Given the description of an element on the screen output the (x, y) to click on. 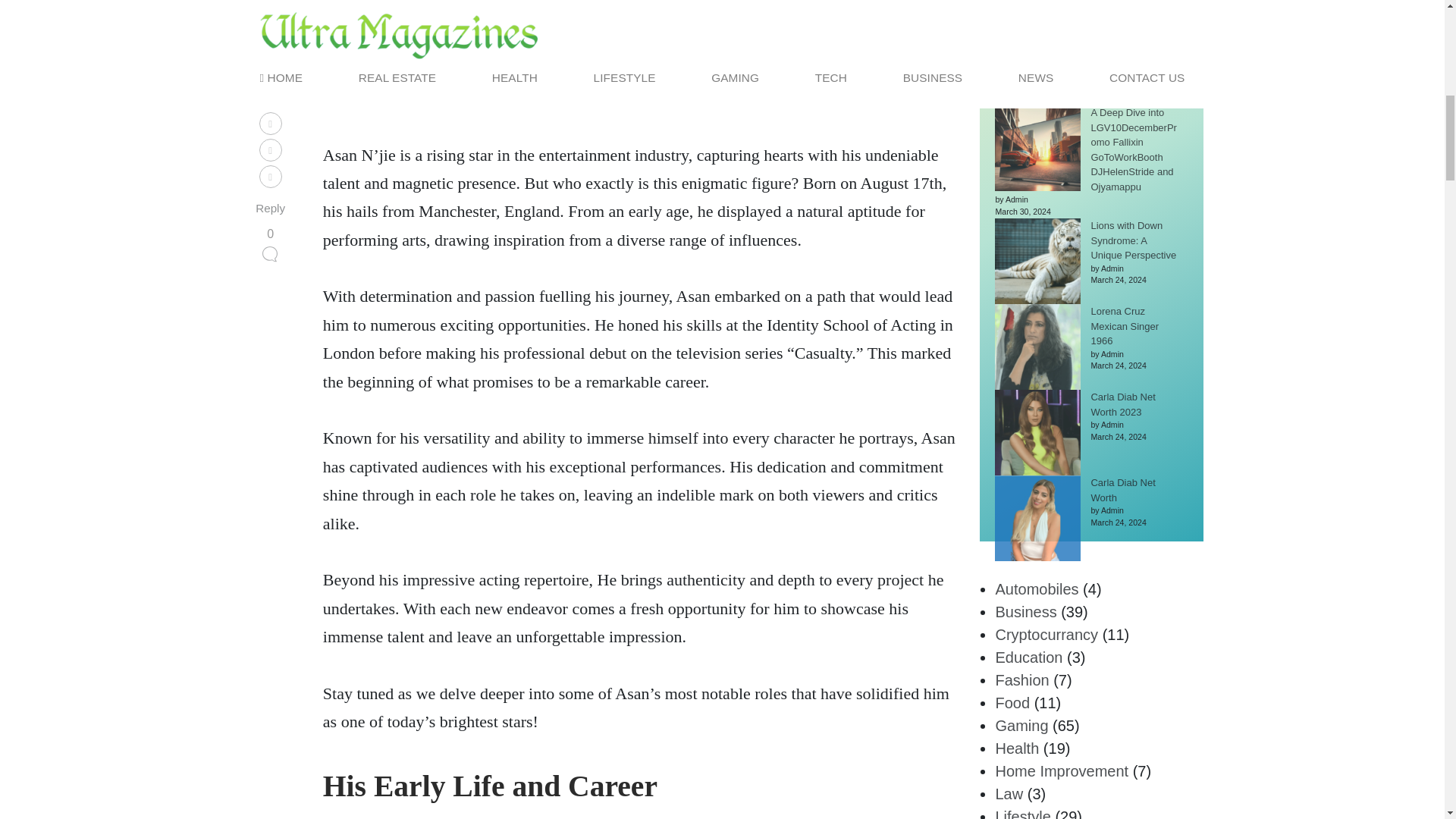
Lorena Cruz Mexican Singer 1966 (1124, 325)
Lions with Down Syndrome: A Unique Perspective (1133, 240)
Exploring Vilasessamo Global Appeal (1133, 41)
